Given the description of an element on the screen output the (x, y) to click on. 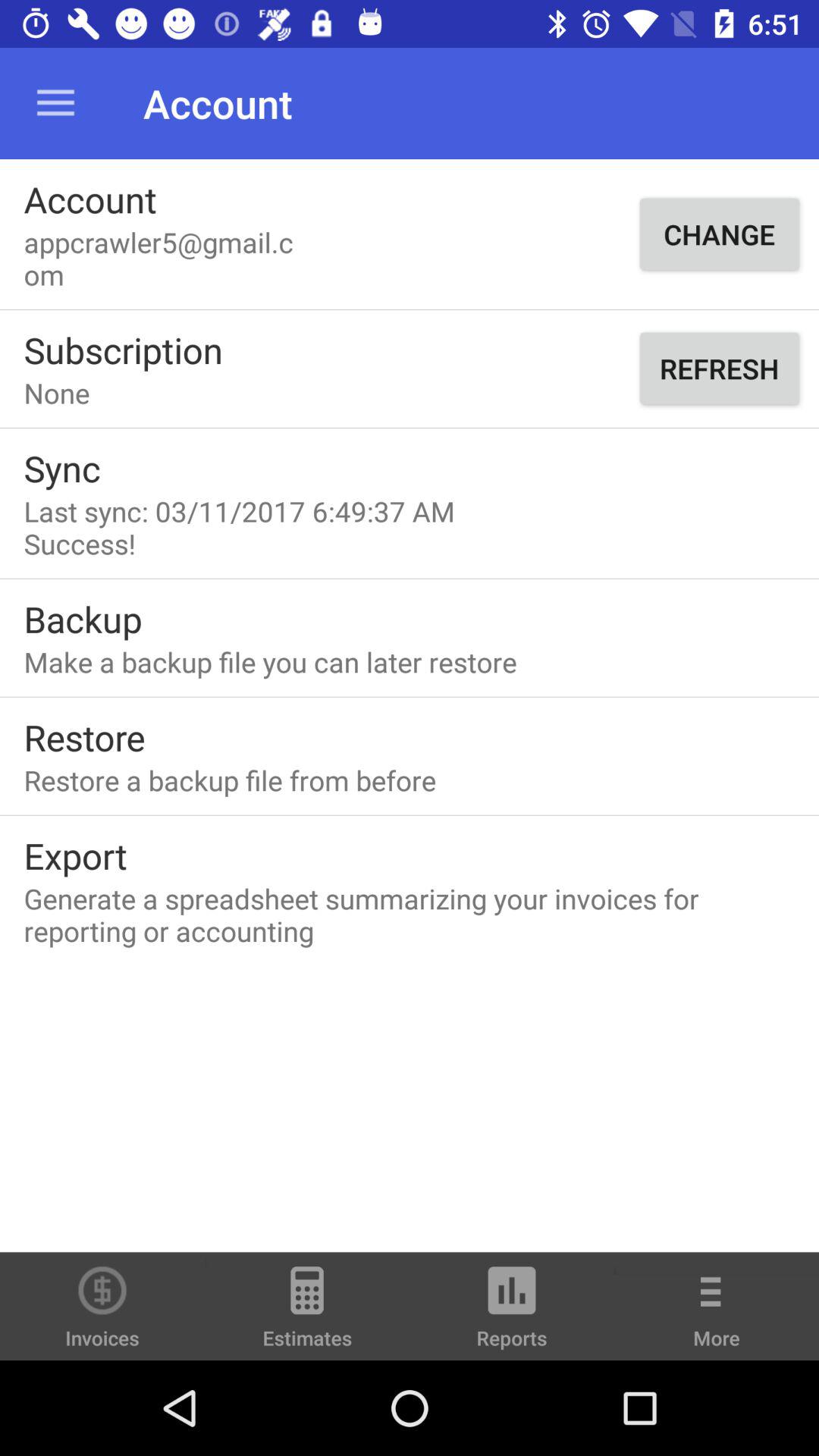
scroll until more (716, 1317)
